Given the description of an element on the screen output the (x, y) to click on. 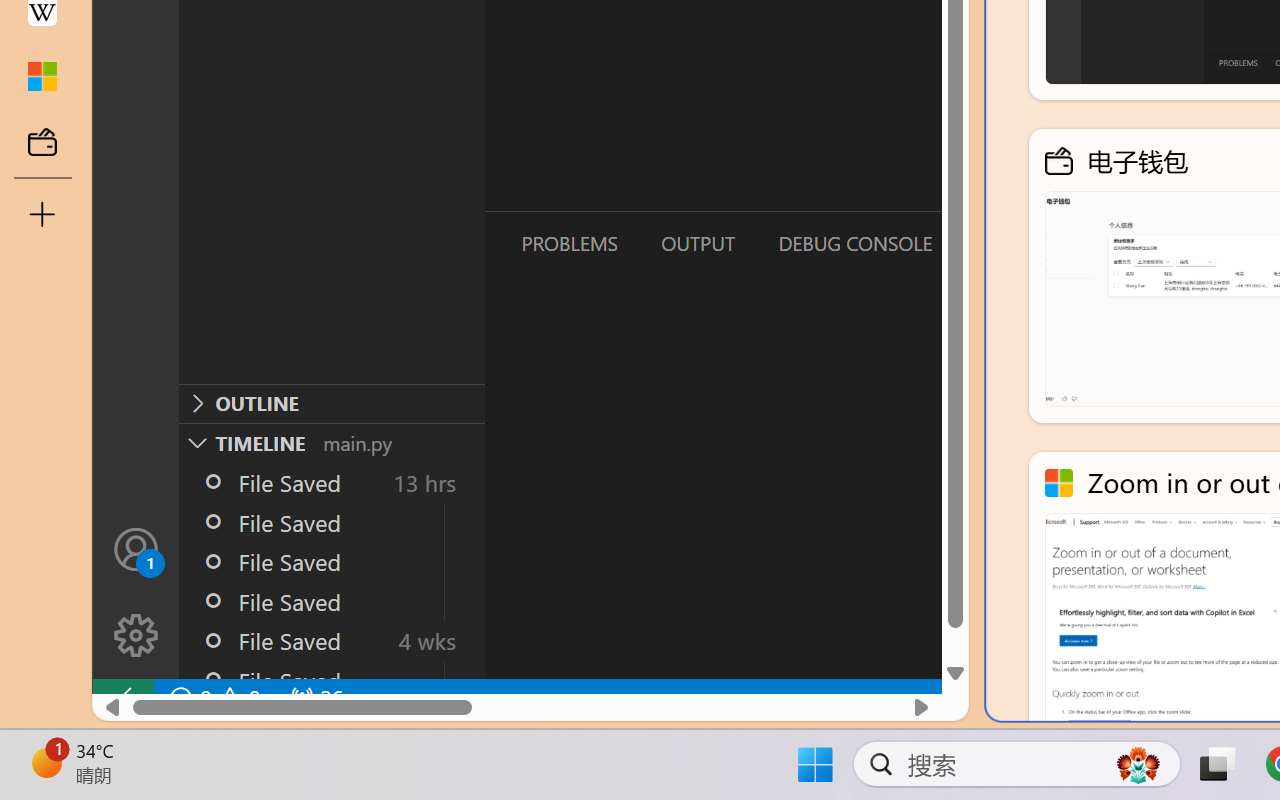
Outline Section (331, 403)
Output (Ctrl+Shift+U) (696, 243)
Accounts - Sign in requested (135, 548)
Problems (Ctrl+Shift+M) (567, 243)
Manage (135, 635)
